Given the description of an element on the screen output the (x, y) to click on. 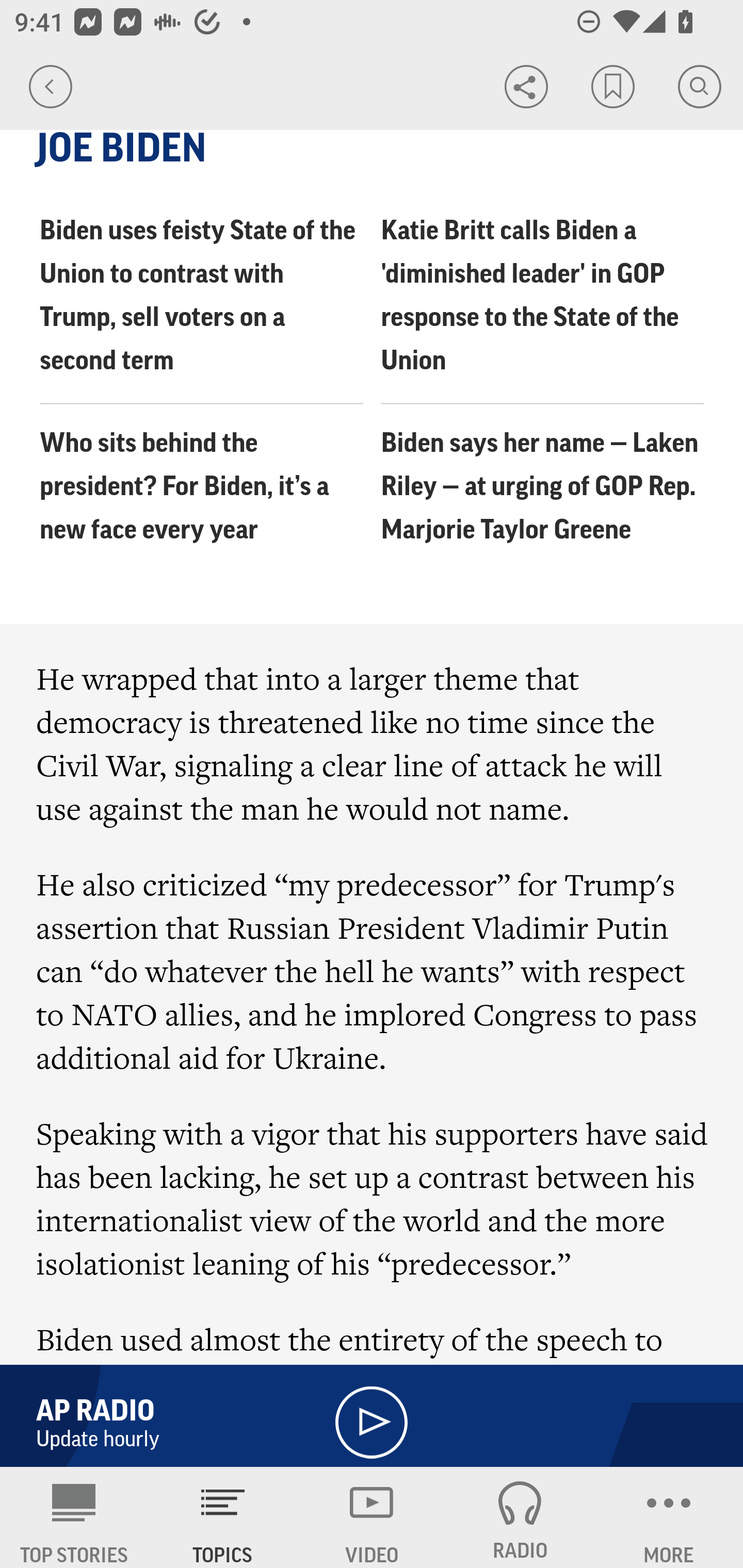
JOE BIDEN (372, 148)
AP RADIO Update hourly (371, 1410)
AP News TOP STORIES (74, 1517)
TOPICS (222, 1517)
VIDEO (371, 1517)
RADIO (519, 1517)
MORE (668, 1517)
